Given the description of an element on the screen output the (x, y) to click on. 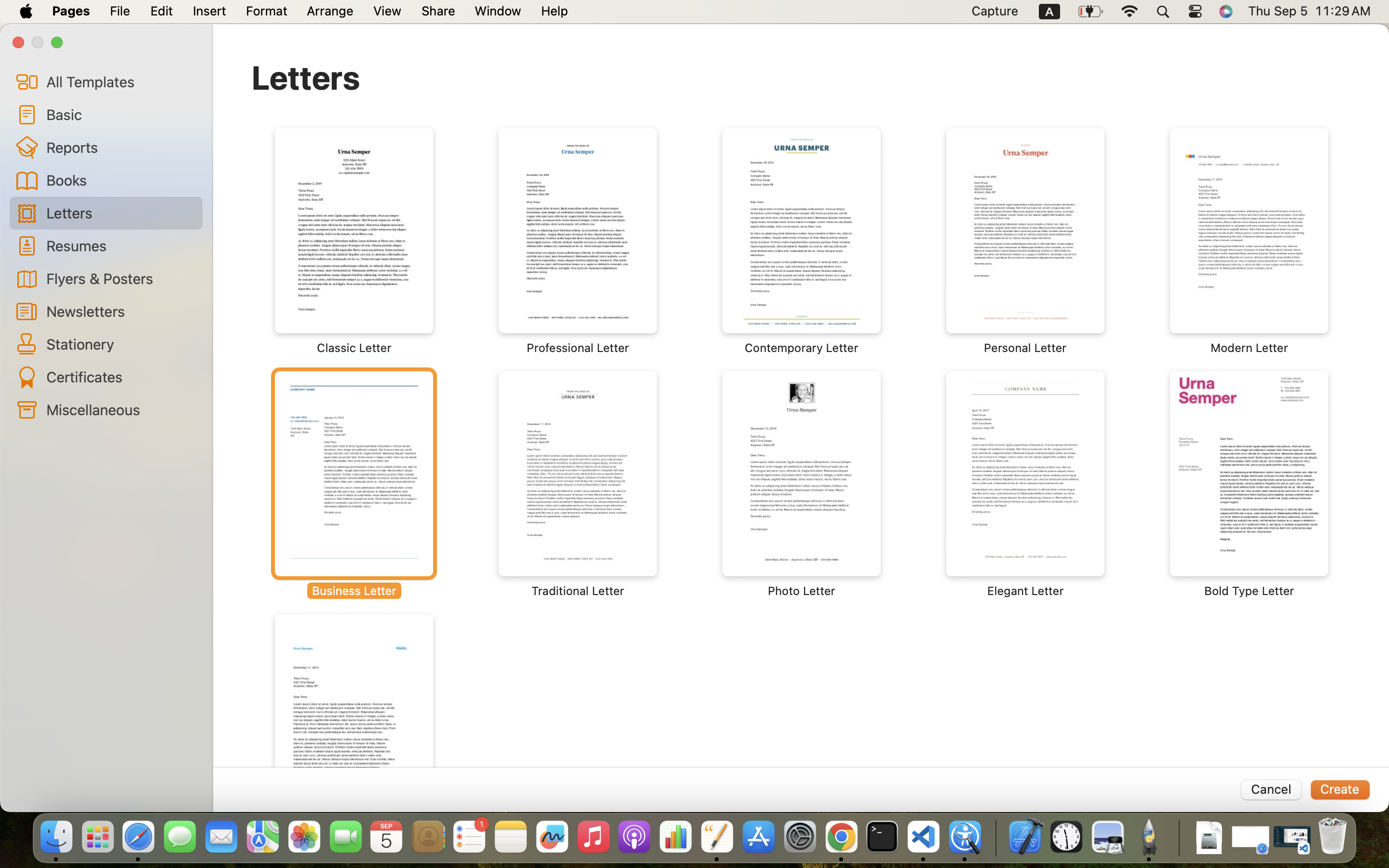
‎⁨Classic Letter⁩ Element type: AXButton (353, 241)
Newsletters Element type: AXStaticText (120, 310)
Stationery Element type: AXStaticText (120, 343)
All Templates Element type: AXStaticText (120, 81)
Certificates Element type: AXStaticText (120, 376)
